Given the description of an element on the screen output the (x, y) to click on. 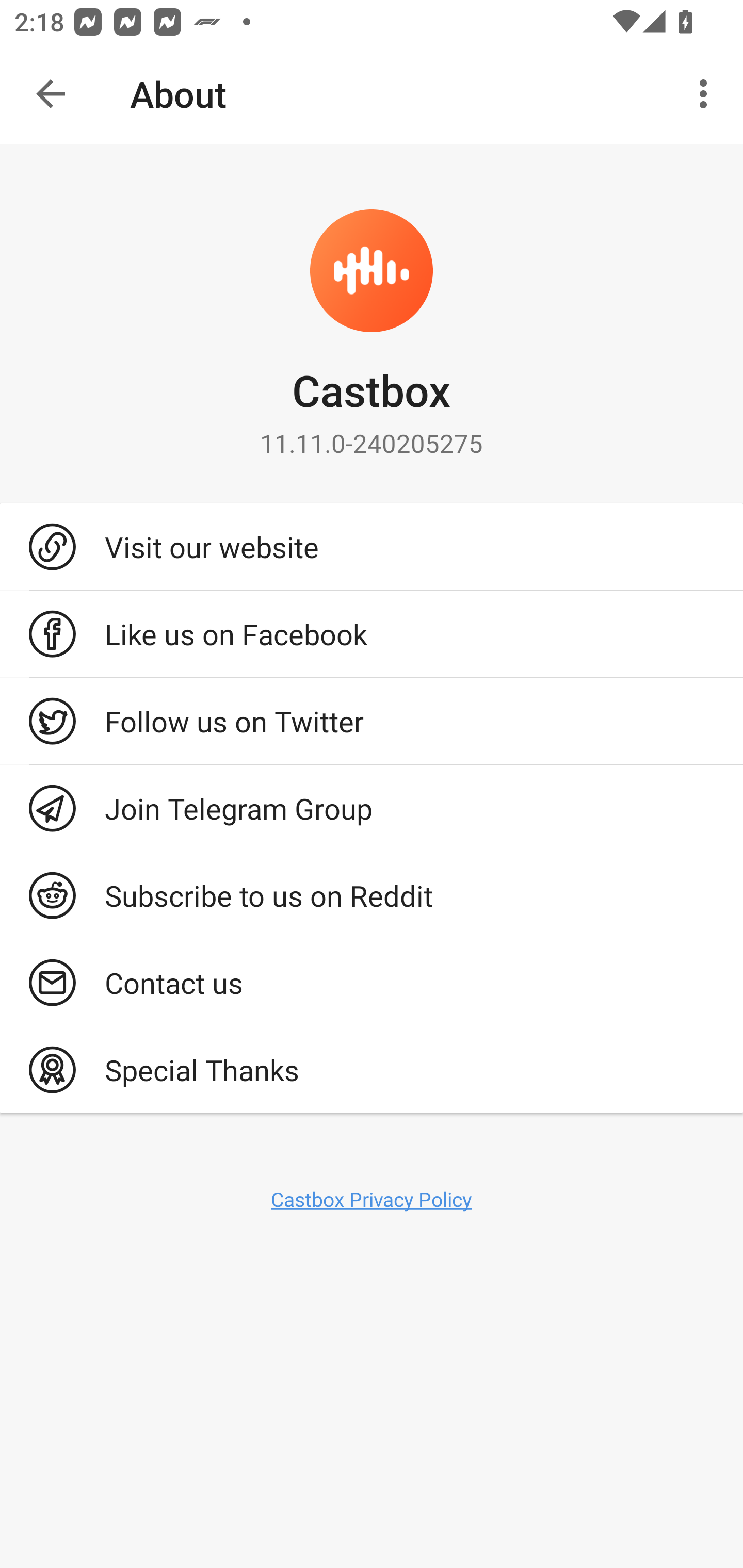
Navigate up (50, 93)
More options (706, 93)
11.11.0-240205275 (371, 442)
 Visit our website (371, 546)
 Like us on Facebook (371, 634)
 Follow us on Twitter (371, 721)
 Join Telegram Group (371, 808)
 Subscribe to us on Reddit (371, 895)
 Contact us (371, 982)
 Special Thanks (371, 1070)
Castbox Privacy Policy (371, 1198)
